Given the description of an element on the screen output the (x, y) to click on. 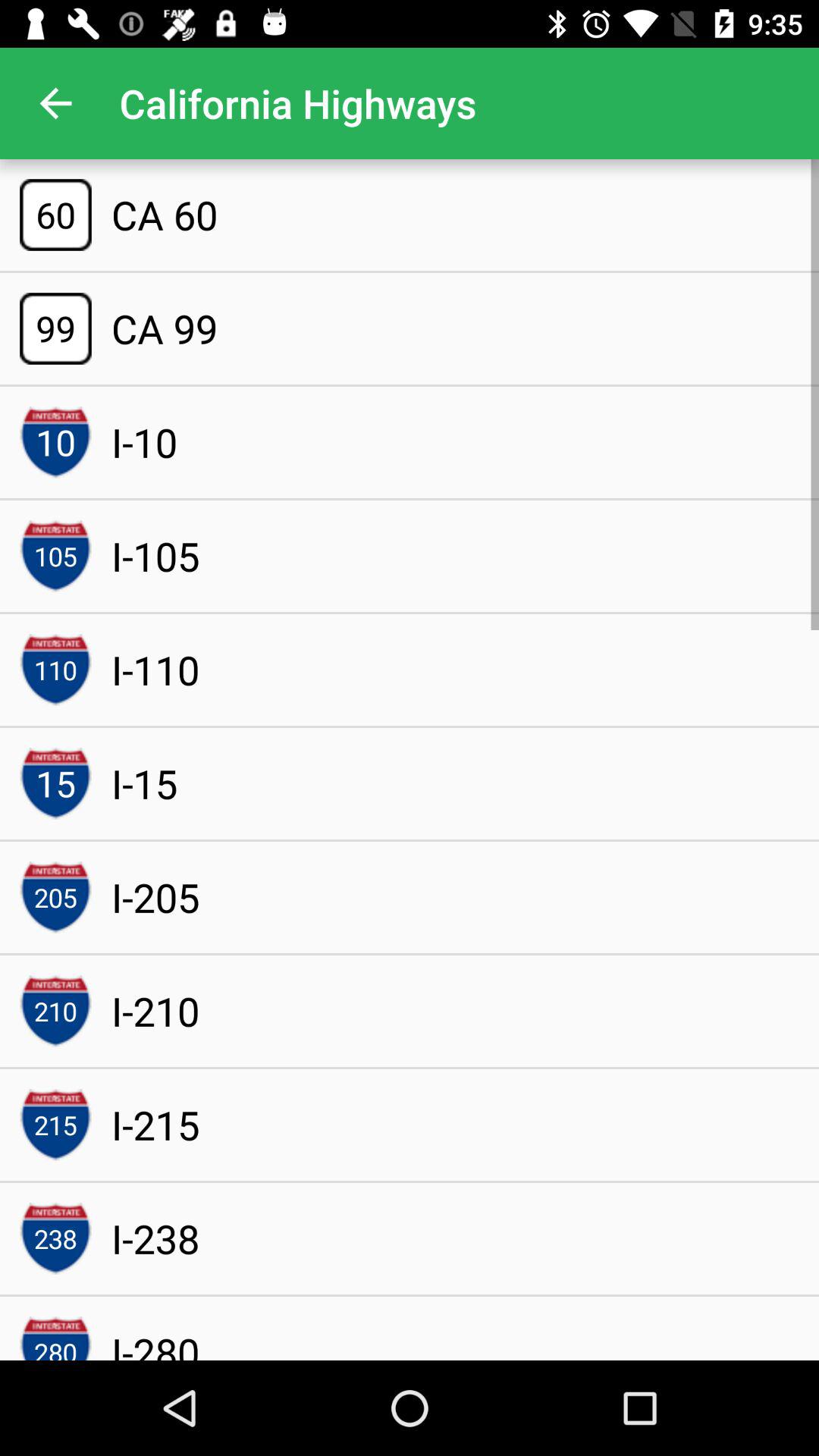
flip to i-210 (155, 1010)
